Given the description of an element on the screen output the (x, y) to click on. 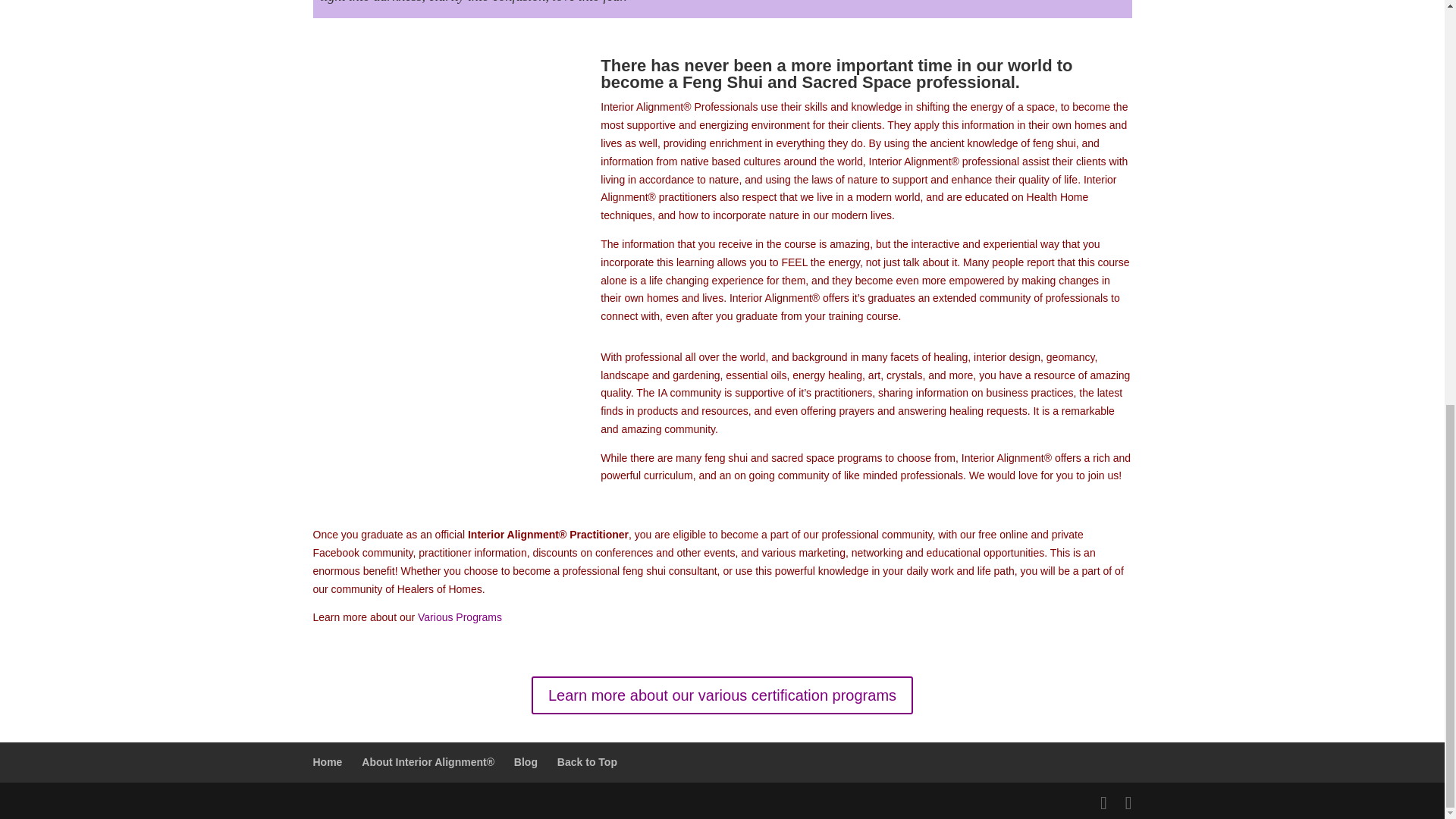
Blog (525, 761)
Back to Top (587, 761)
Home (327, 761)
Various Programs (459, 616)
Learn more about our various certification programs (721, 695)
